Given the description of an element on the screen output the (x, y) to click on. 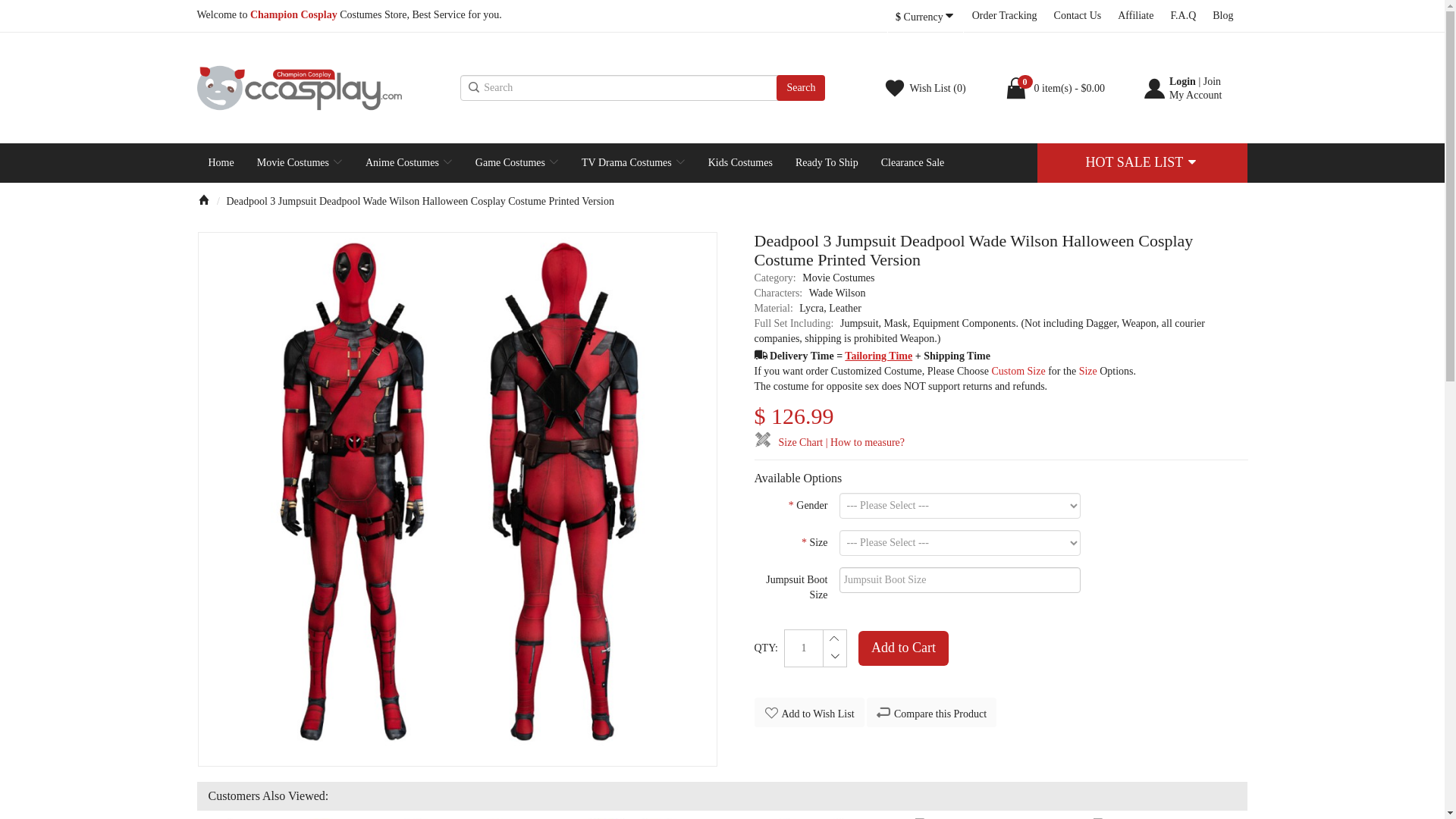
Affiliate (1134, 15)
Search (800, 87)
Order Tracking (1004, 15)
Home (221, 162)
F.A.Q (1182, 15)
CCosplay's Blog (1222, 15)
Join (1212, 81)
Contact Us (1077, 15)
Login (1182, 81)
Champion Cosplay (324, 87)
